Given the description of an element on the screen output the (x, y) to click on. 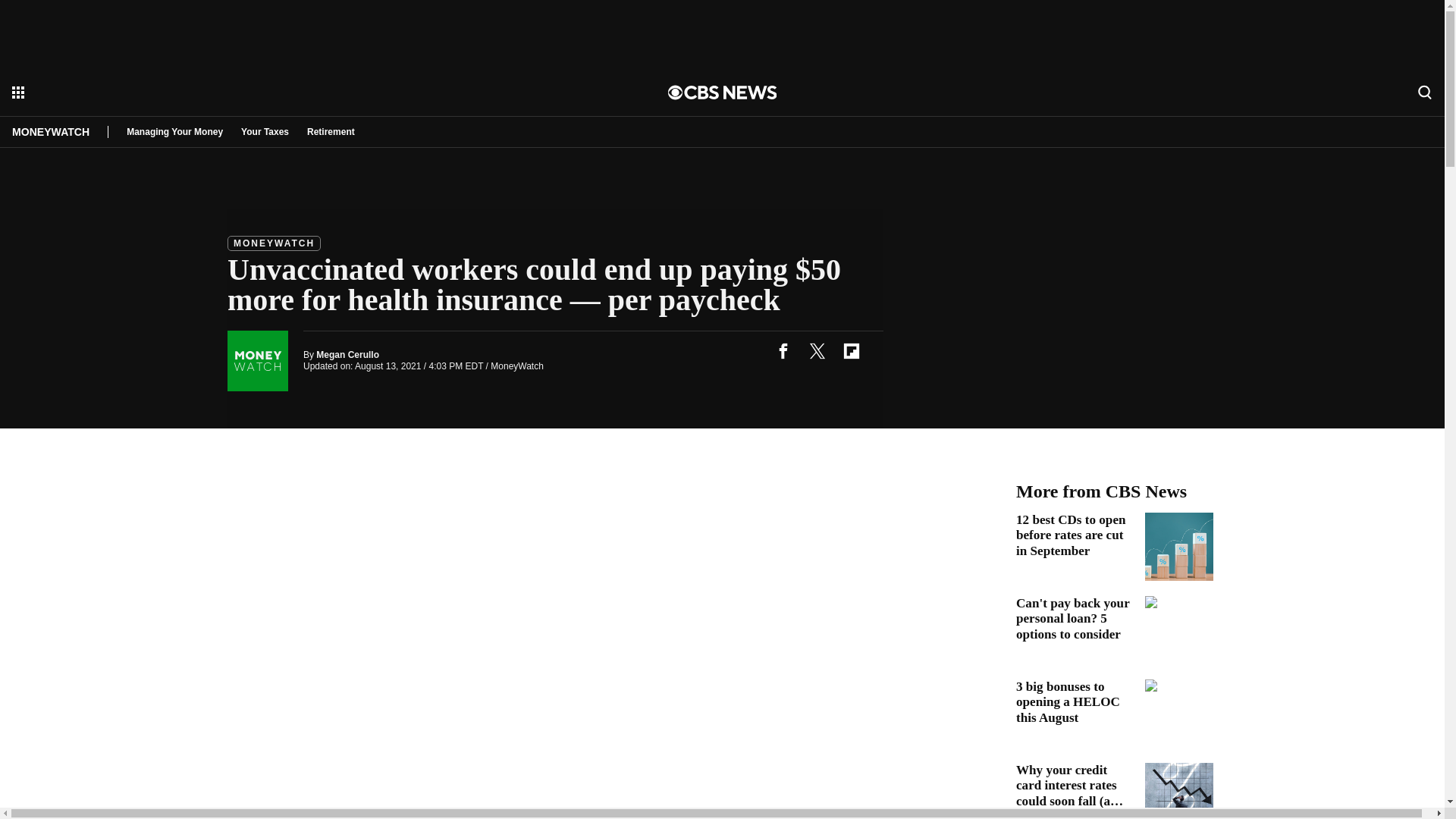
twitter (816, 350)
facebook (782, 350)
flipboard (850, 350)
